Given the description of an element on the screen output the (x, y) to click on. 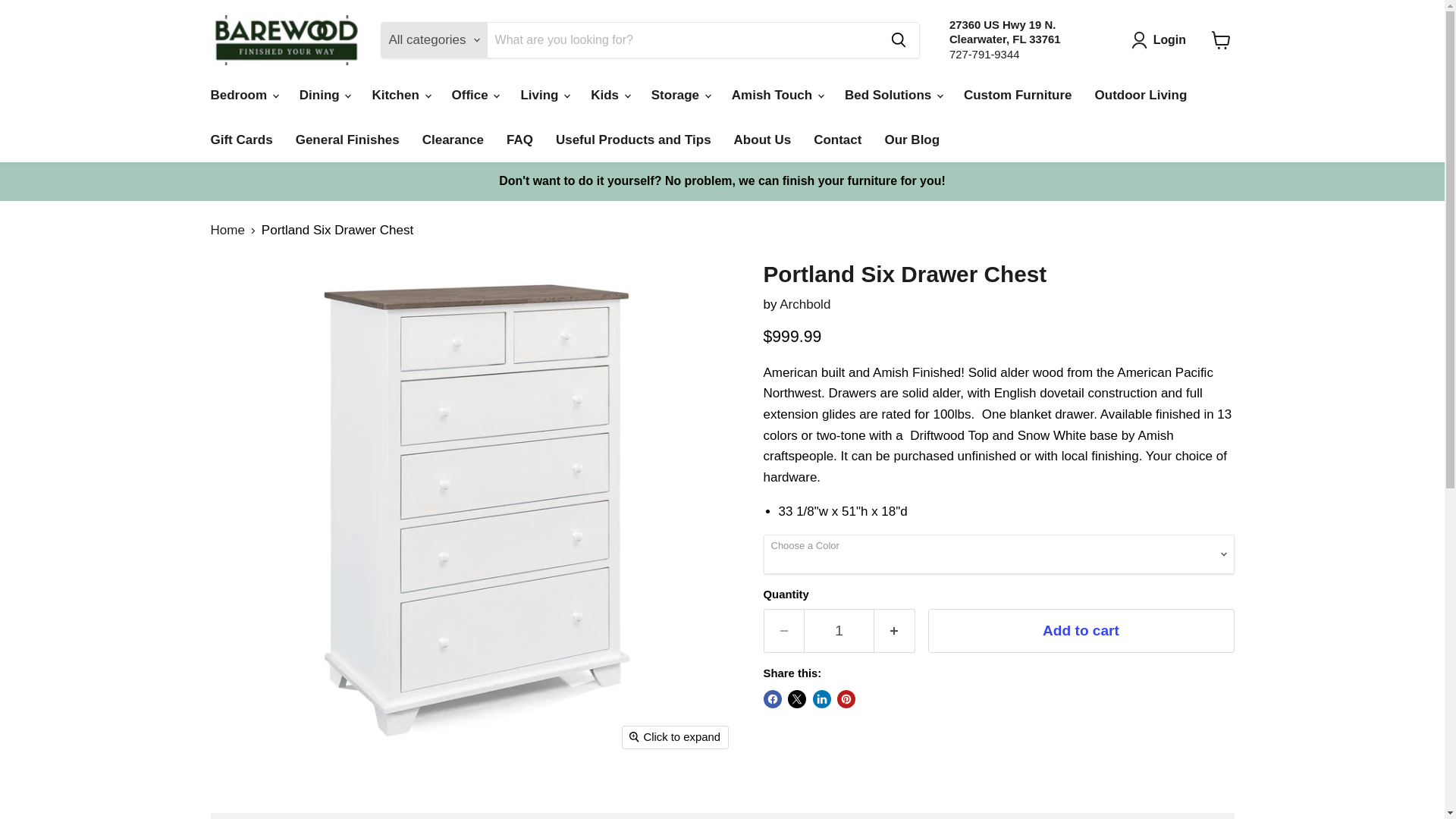
Archbold (1024, 40)
Login (803, 304)
1 (1161, 40)
View cart (839, 630)
